Given the description of an element on the screen output the (x, y) to click on. 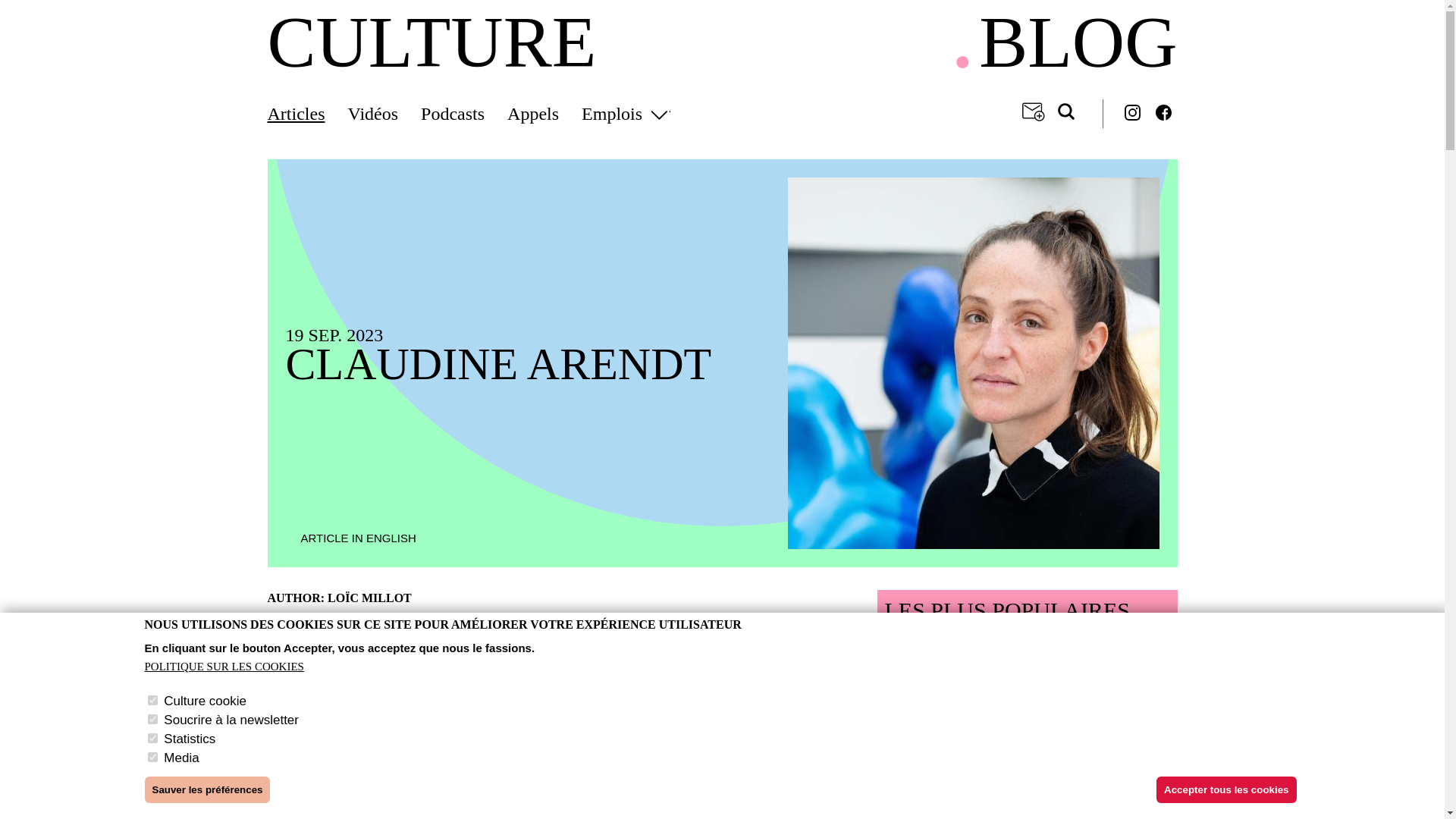
statistics (152, 737)
Accueil (430, 42)
Share to Email (720, 597)
Share to Facebook (784, 597)
Appels (543, 113)
media (152, 757)
Podcasts (463, 113)
CULTURE (430, 42)
Articles (306, 113)
